Given the description of an element on the screen output the (x, y) to click on. 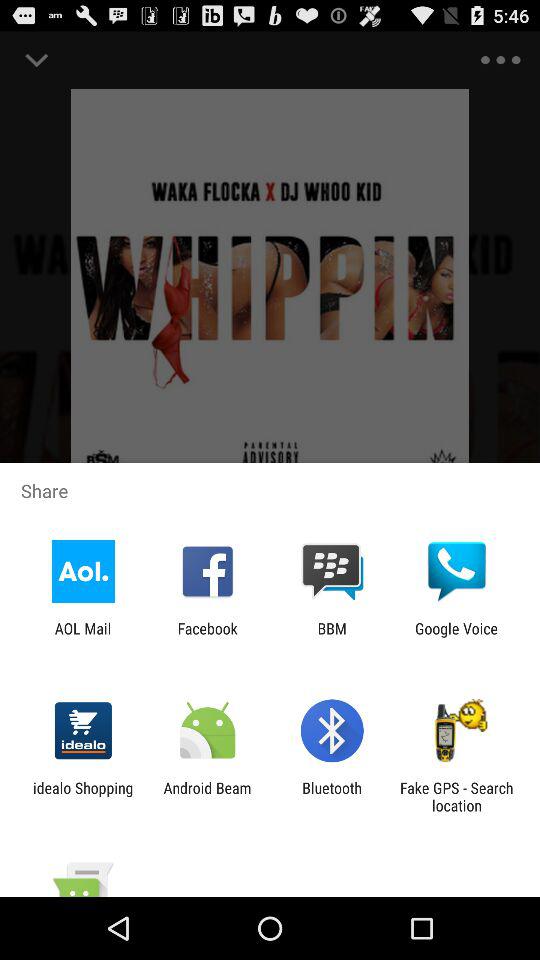
turn on google voice item (456, 637)
